Given the description of an element on the screen output the (x, y) to click on. 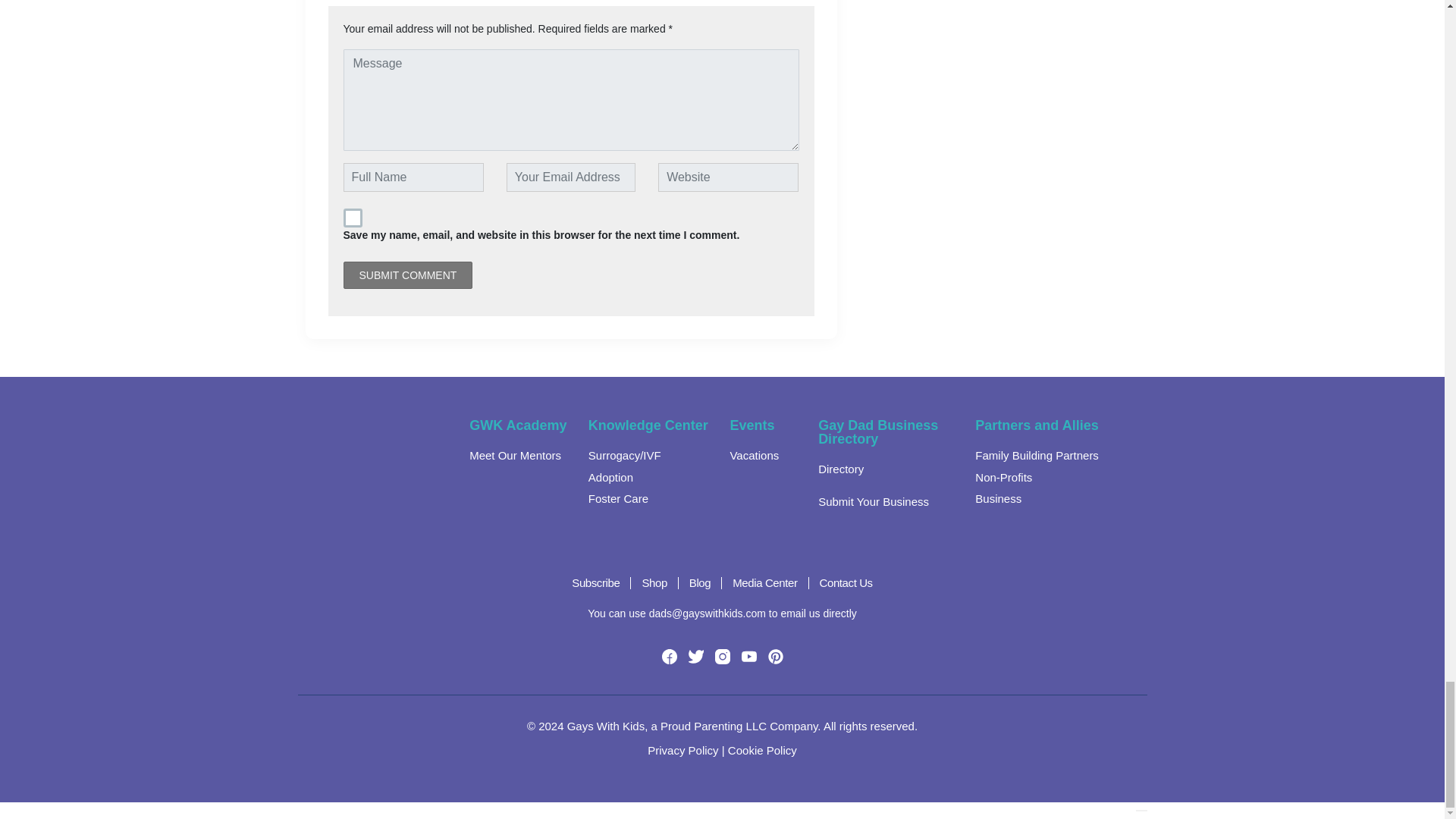
SUBMIT COMMENT (406, 275)
yes (351, 217)
